Given the description of an element on the screen output the (x, y) to click on. 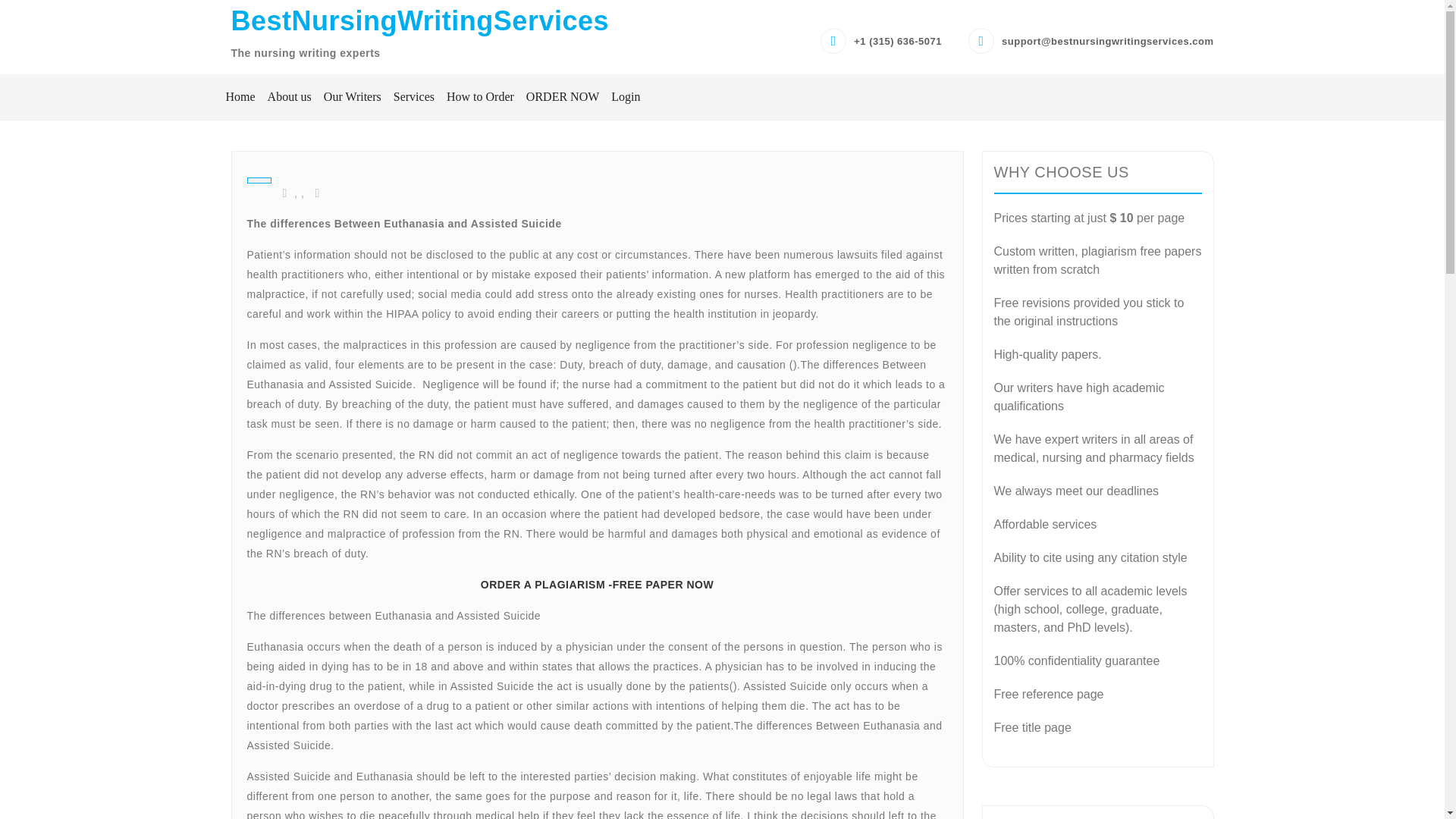
ORDER NOW (562, 96)
BestNursingWritingServices (419, 20)
, , (294, 192)
Our Writers (352, 96)
How to Order (480, 96)
Services (414, 96)
About us (289, 96)
Login (622, 96)
ORDER A PLAGIARISM -FREE PAPER NOW (596, 584)
Home (240, 96)
